Given the description of an element on the screen output the (x, y) to click on. 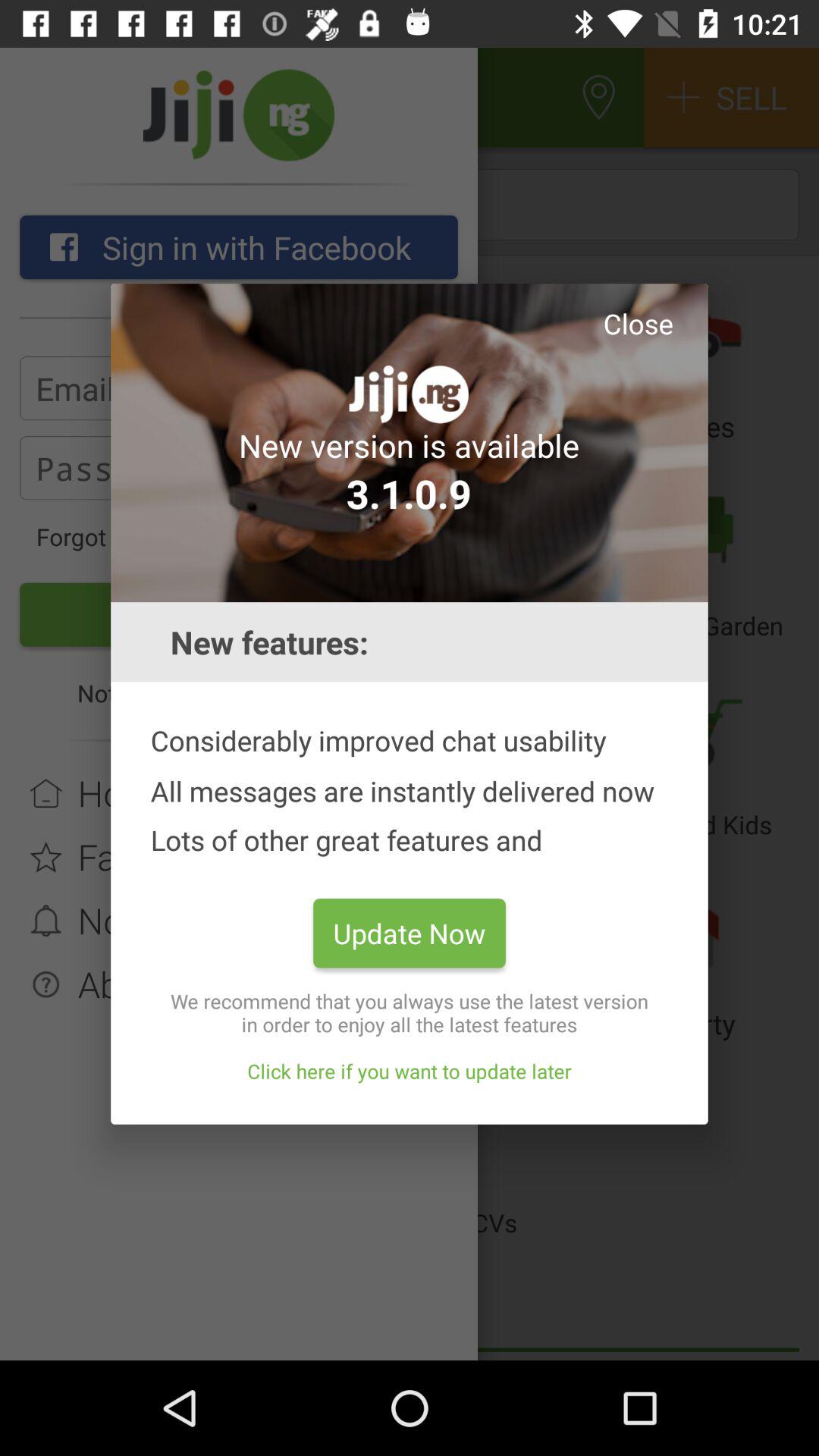
press the close app (638, 323)
